Given the description of an element on the screen output the (x, y) to click on. 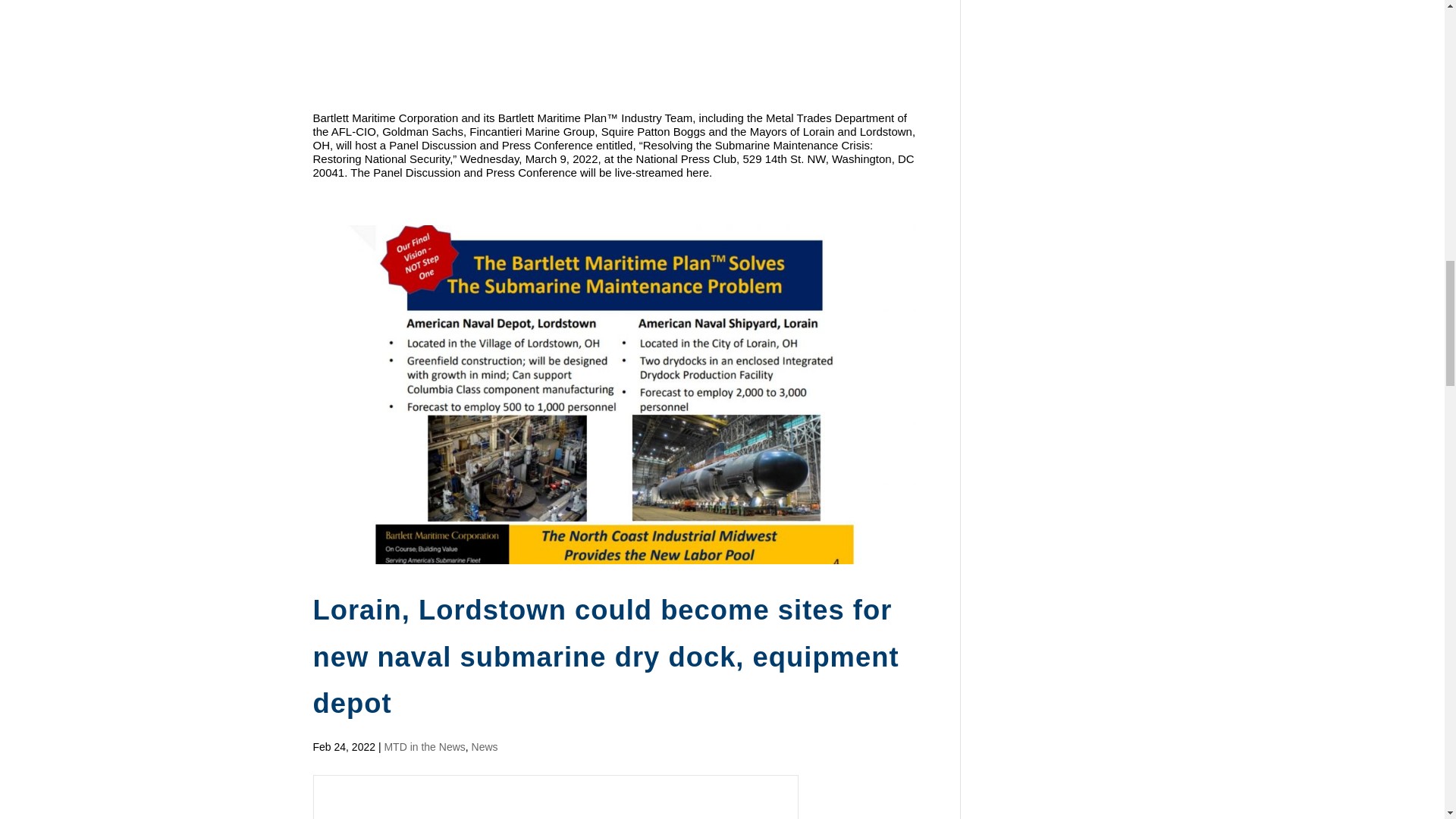
YouTube video player (524, 48)
